Given the description of an element on the screen output the (x, y) to click on. 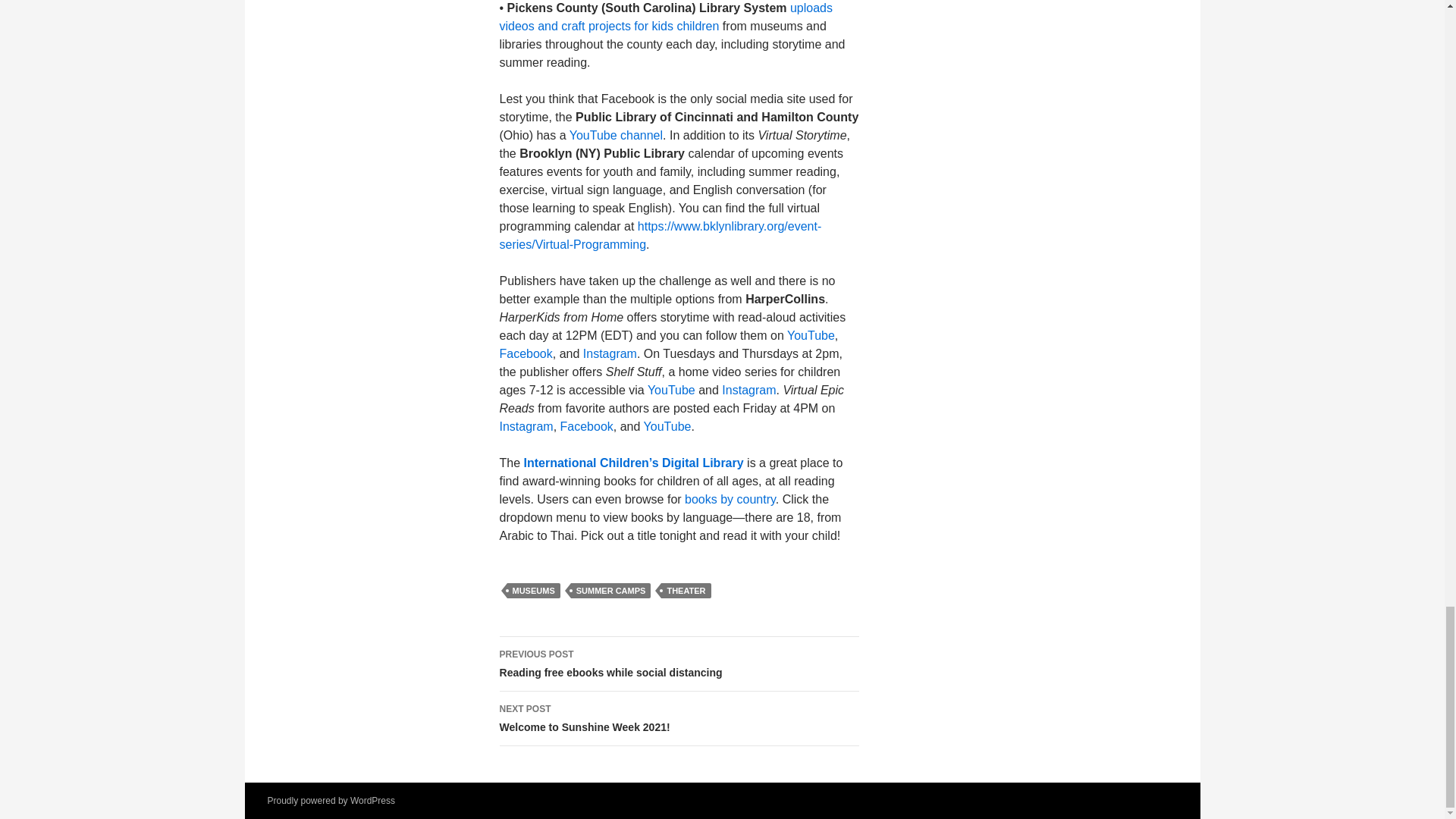
uploads videos and craft projects for kids children (665, 16)
Instagram (610, 353)
Instagram (749, 390)
Instagram (526, 426)
Facebook (586, 426)
YouTube channel (615, 134)
Facebook (525, 353)
YouTube (810, 335)
YouTube (667, 426)
YouTube (671, 390)
